Given the description of an element on the screen output the (x, y) to click on. 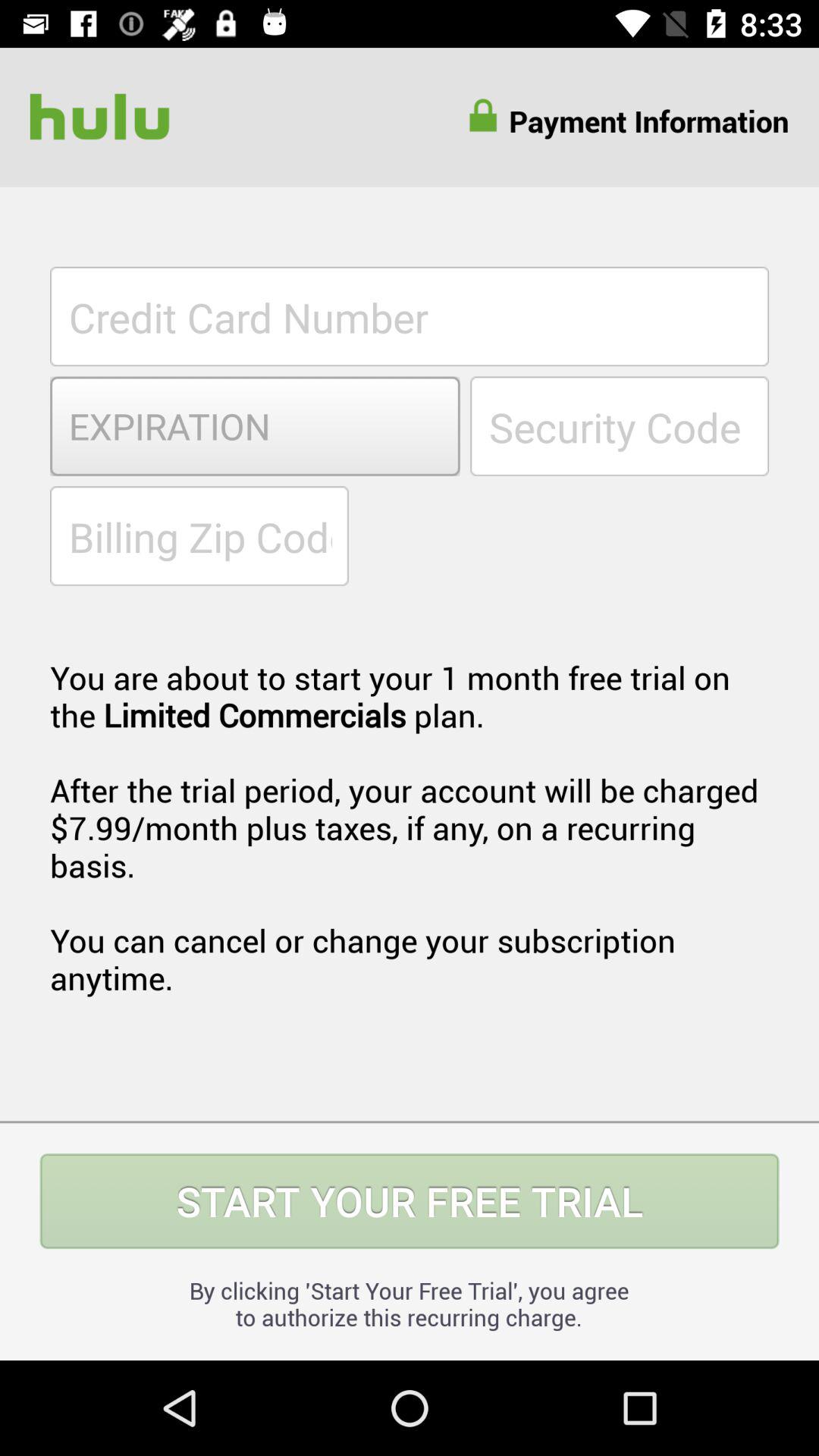
credit card number text input (409, 316)
